Given the description of an element on the screen output the (x, y) to click on. 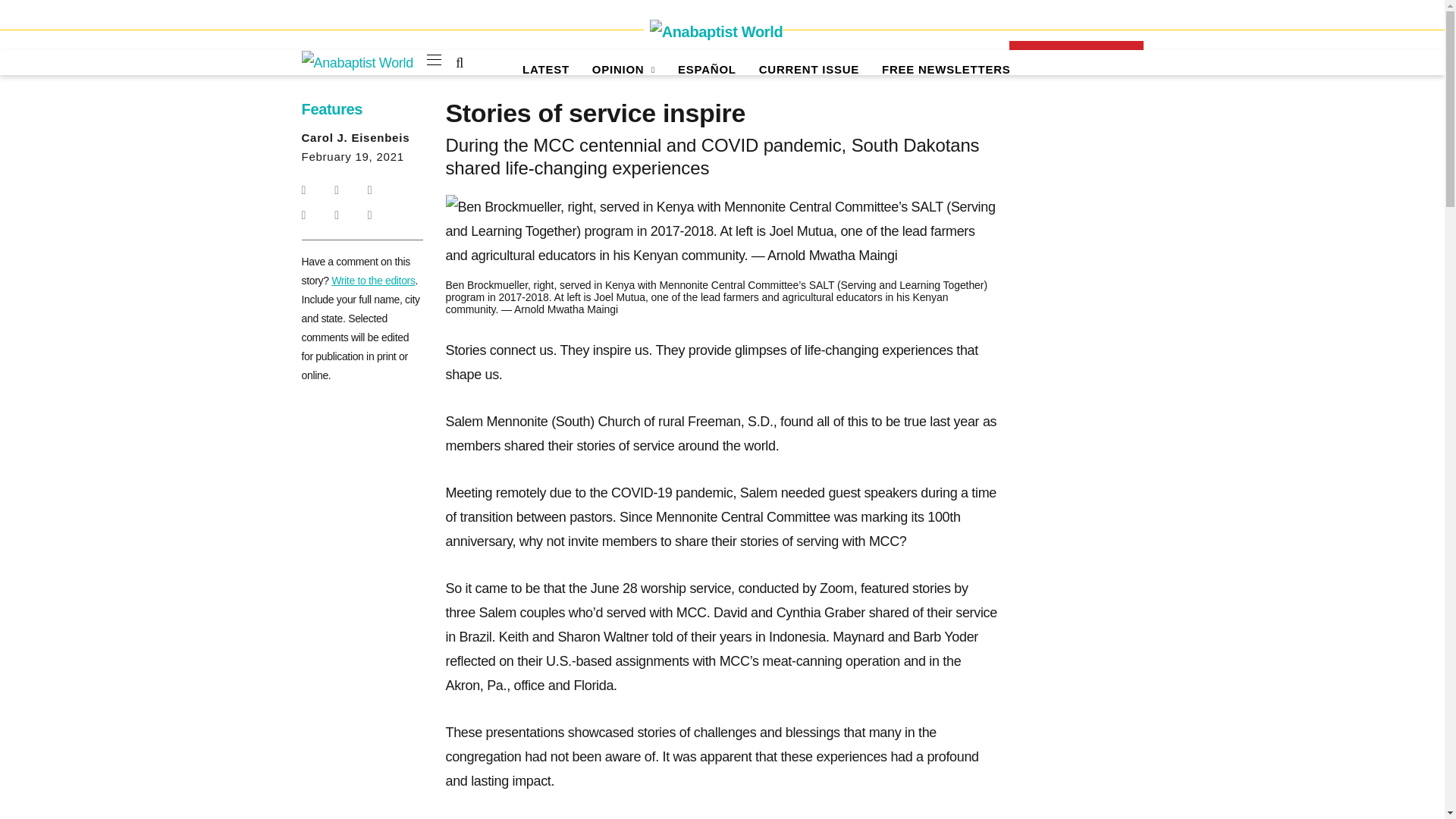
Free Newsletters (946, 69)
Posts by Carol J. Eisenbeis (355, 137)
Current Issue (808, 69)
Anabaptist World (713, 31)
Opinion (623, 69)
Latest (545, 69)
